Given the description of an element on the screen output the (x, y) to click on. 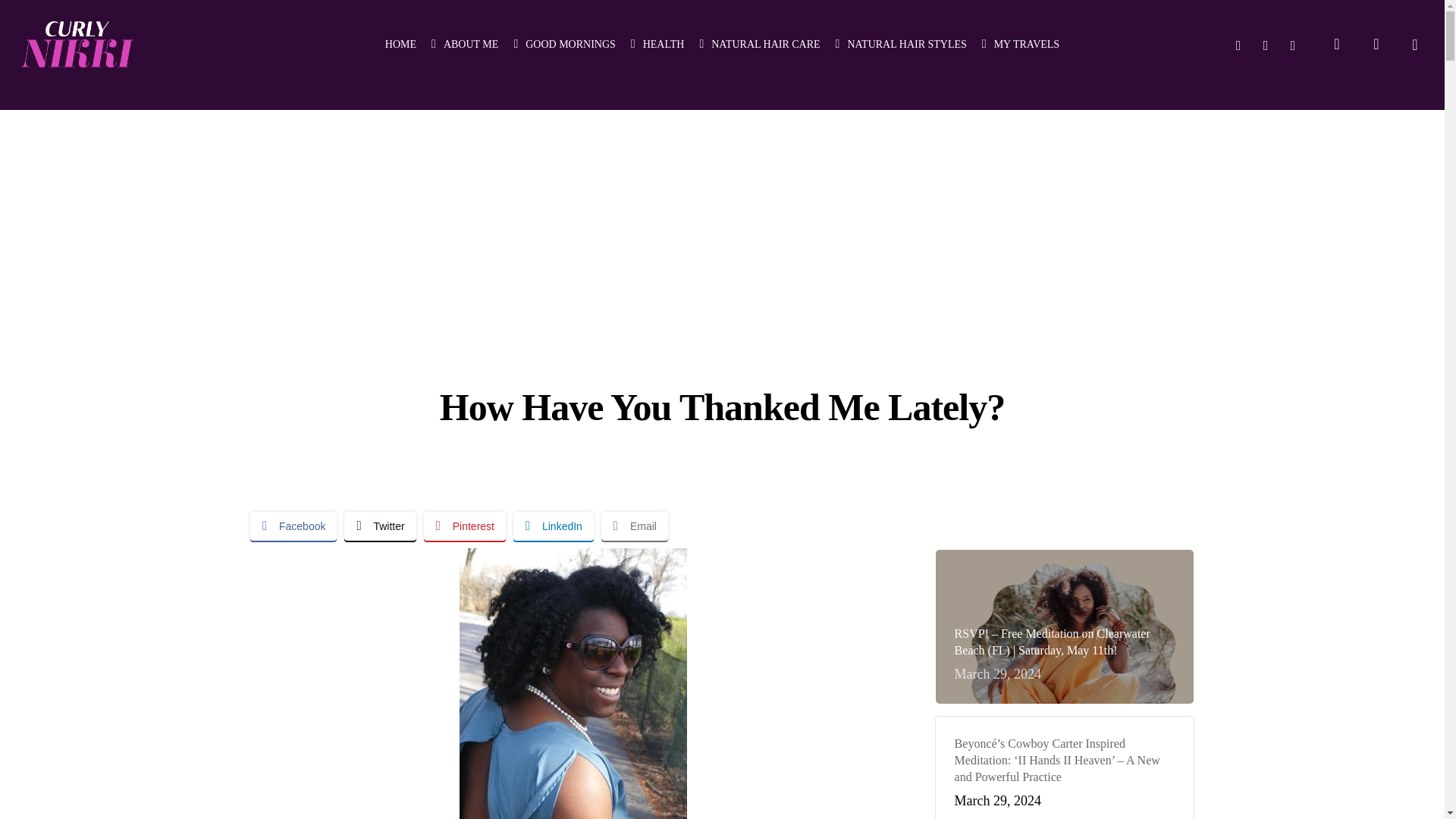
How Have You Thanked Me Lately? (573, 683)
NATURAL HAIR STYLES (900, 44)
NATURAL HAIR CARE (758, 44)
HEALTH (657, 44)
HOME (400, 44)
GOOD MORNINGS (563, 44)
ABOUT ME (463, 44)
